Given the description of an element on the screen output the (x, y) to click on. 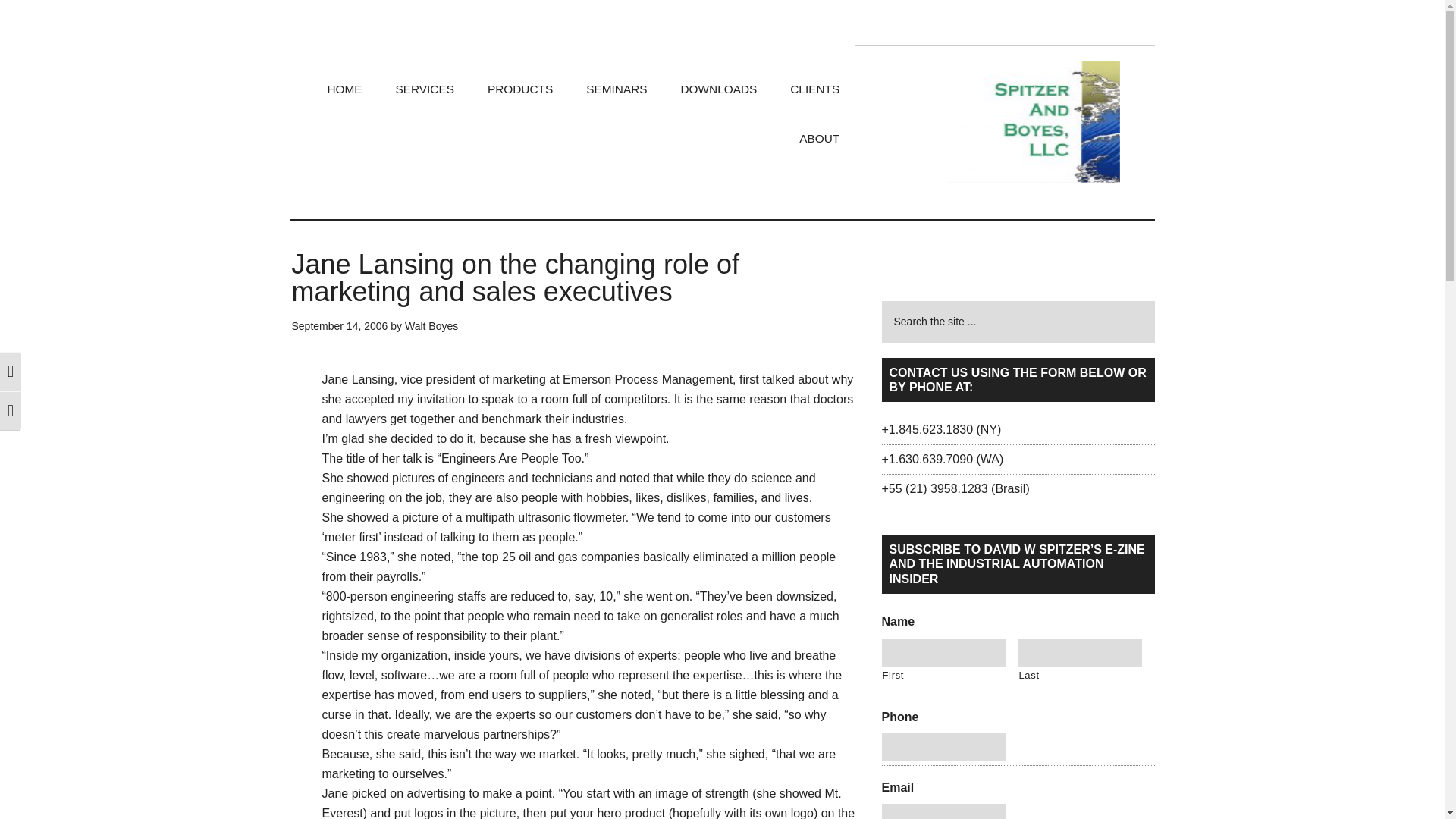
SERVICES (424, 88)
Walt Boyes (431, 326)
PRODUCTS (519, 88)
HOME (344, 88)
SEMINARS (616, 88)
ABOUT (819, 137)
CLIENTS (814, 88)
DOWNLOADS (718, 88)
